Given the description of an element on the screen output the (x, y) to click on. 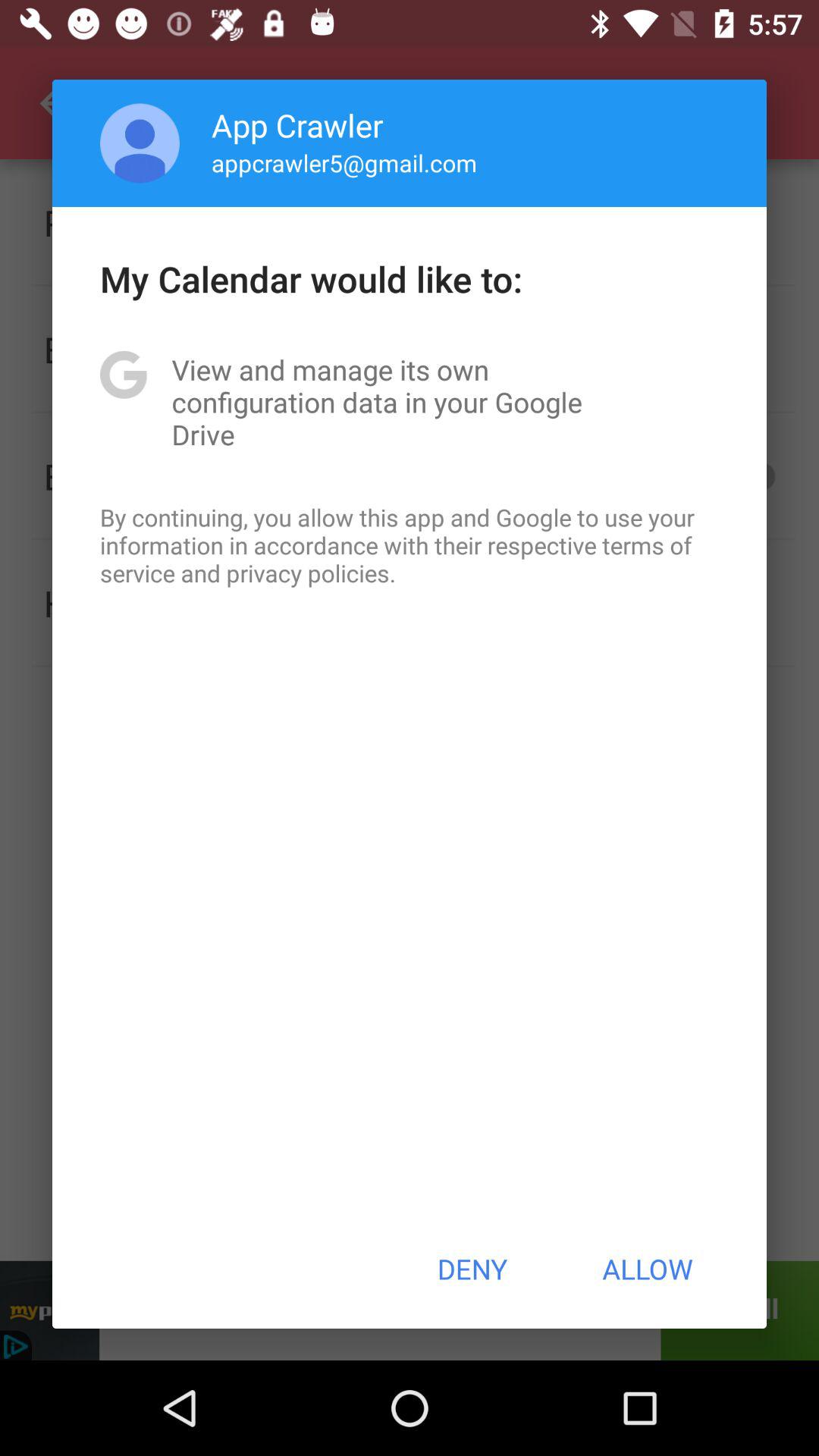
jump until the view and manage app (409, 401)
